Given the description of an element on the screen output the (x, y) to click on. 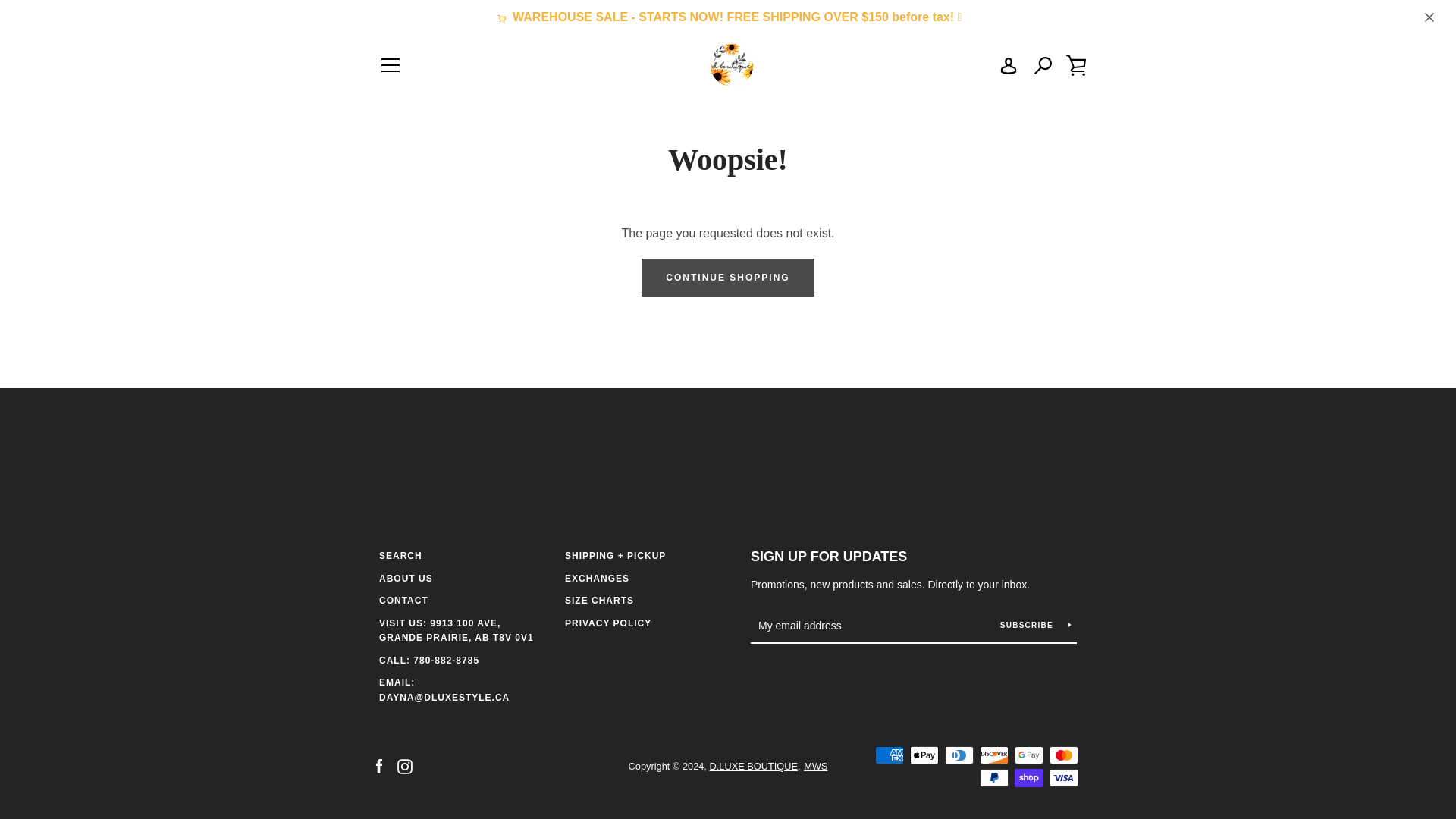
MENU (390, 64)
